Given the description of an element on the screen output the (x, y) to click on. 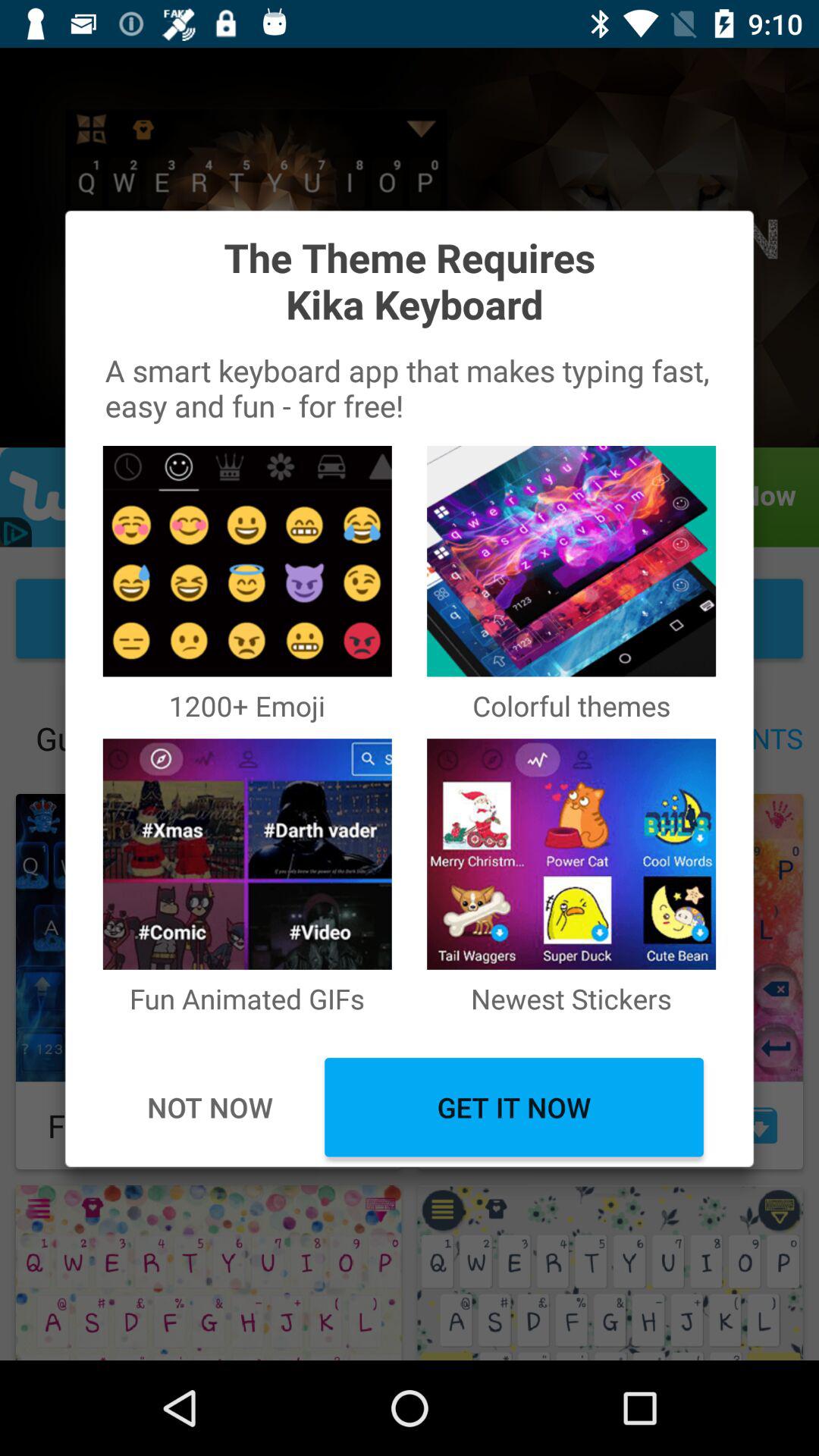
turn on icon next to the get it now item (209, 1106)
